Given the description of an element on the screen output the (x, y) to click on. 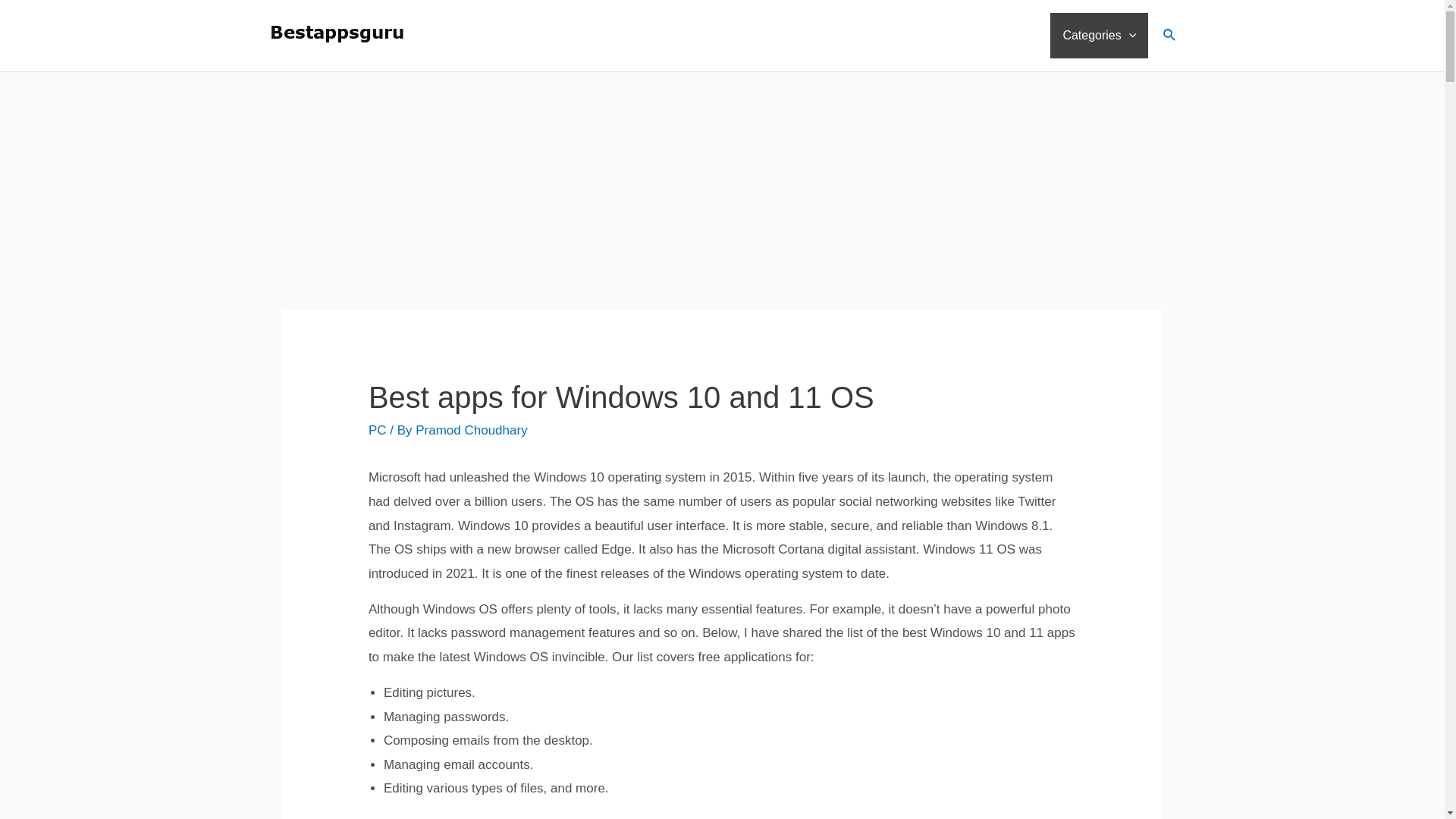
Categories (1098, 35)
View all posts by Pramod Choudhary (470, 430)
